Given the description of an element on the screen output the (x, y) to click on. 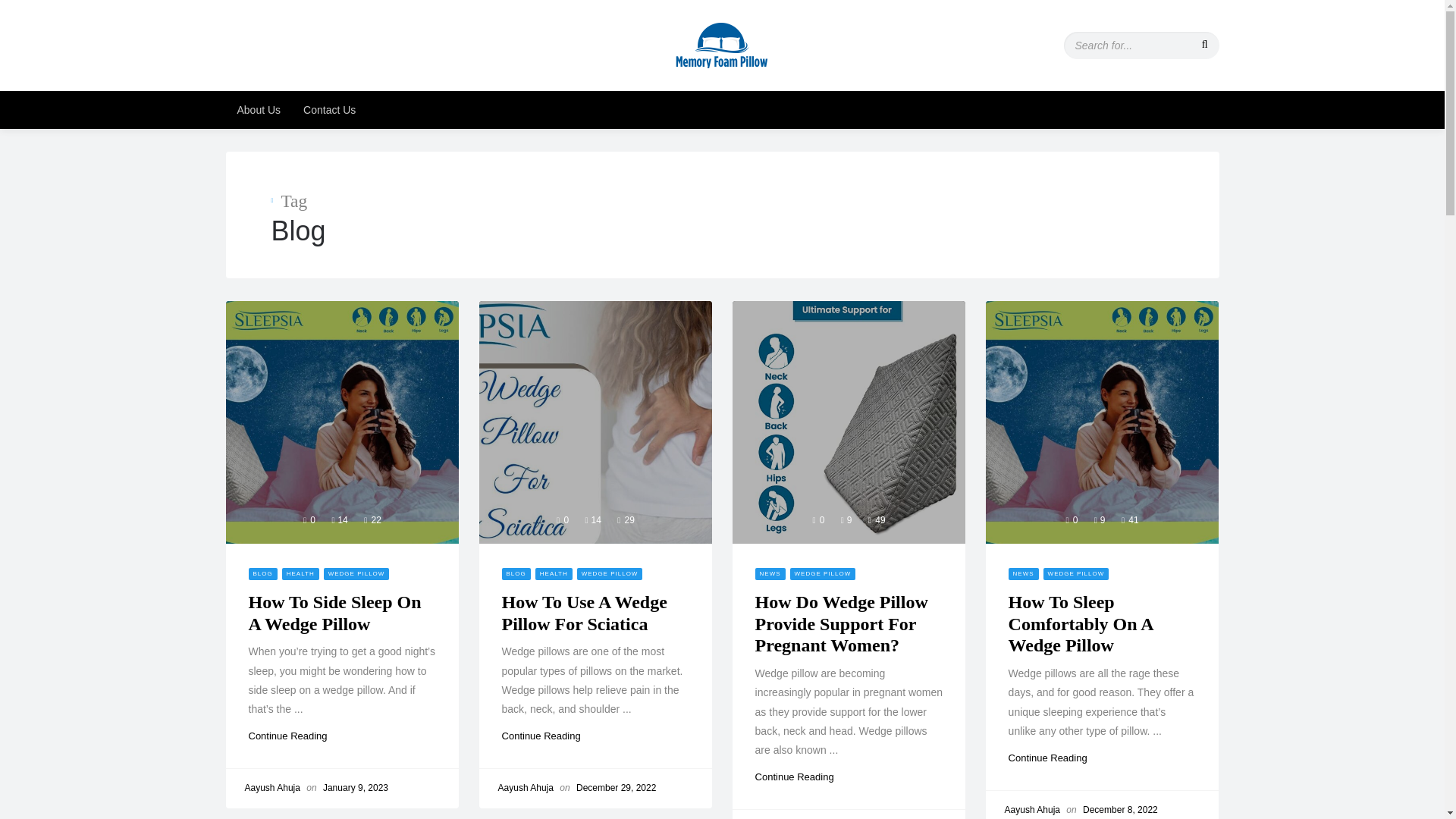
About Us (258, 109)
Aayush Ahuja (271, 787)
Health (300, 573)
Continue Reading (801, 776)
How To Side Sleep On A Wedge Pillow (335, 612)
Memory Foam Pillow (722, 43)
wedge pillow (356, 573)
Contact Us (329, 109)
How To Use A Wedge Pillow For Sciatica (596, 422)
